Given the description of an element on the screen output the (x, y) to click on. 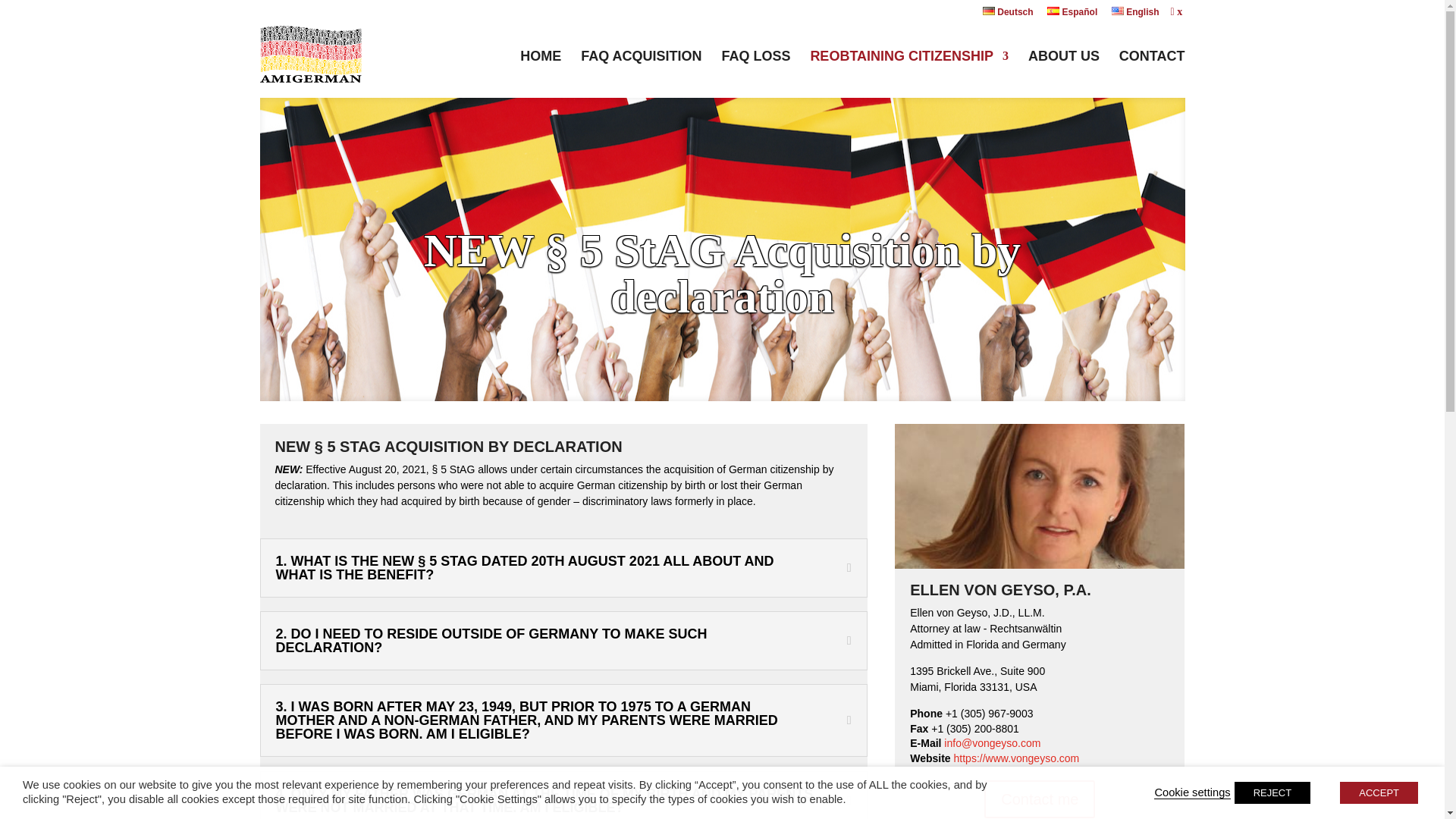
ABOUT US (1063, 67)
Deutsch (1007, 14)
FAQ LOSS (755, 67)
HOME (539, 67)
Cookie settings (1192, 792)
REJECT (1272, 792)
ACCEPT (1378, 792)
CONTACT (1152, 67)
Contact me (1039, 799)
English (1135, 14)
